Given the description of an element on the screen output the (x, y) to click on. 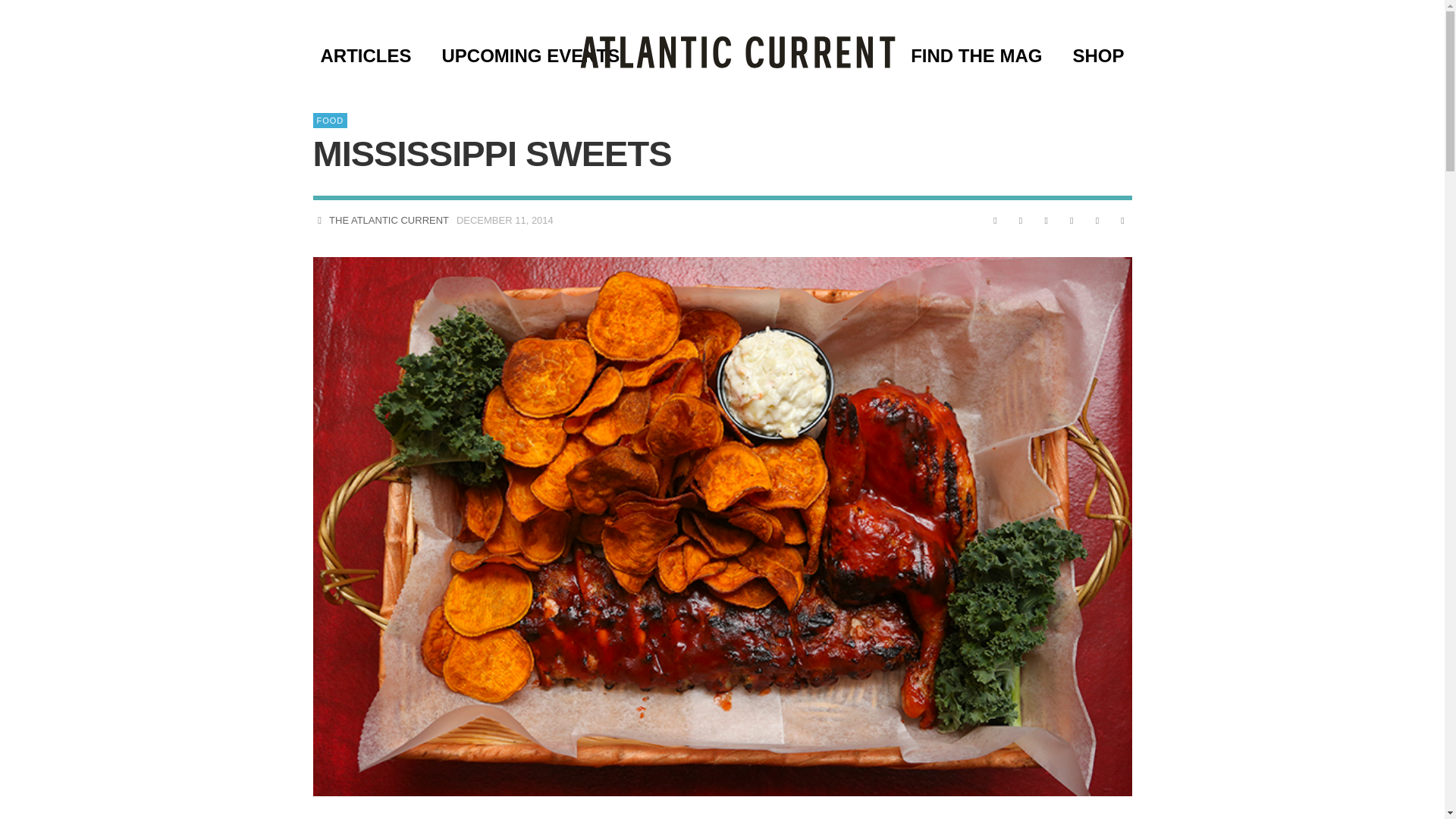
THE ATLANTIC CURRENT (388, 220)
DECEMBER 11, 2014 (505, 220)
SHOP (1097, 55)
FIND THE MAG (976, 55)
ARTICLES (365, 55)
FOOD (330, 119)
UPCOMING EVENTS (530, 55)
Permalink to Mississippi Sweets (505, 220)
View all posts in Food (330, 119)
